Given the description of an element on the screen output the (x, y) to click on. 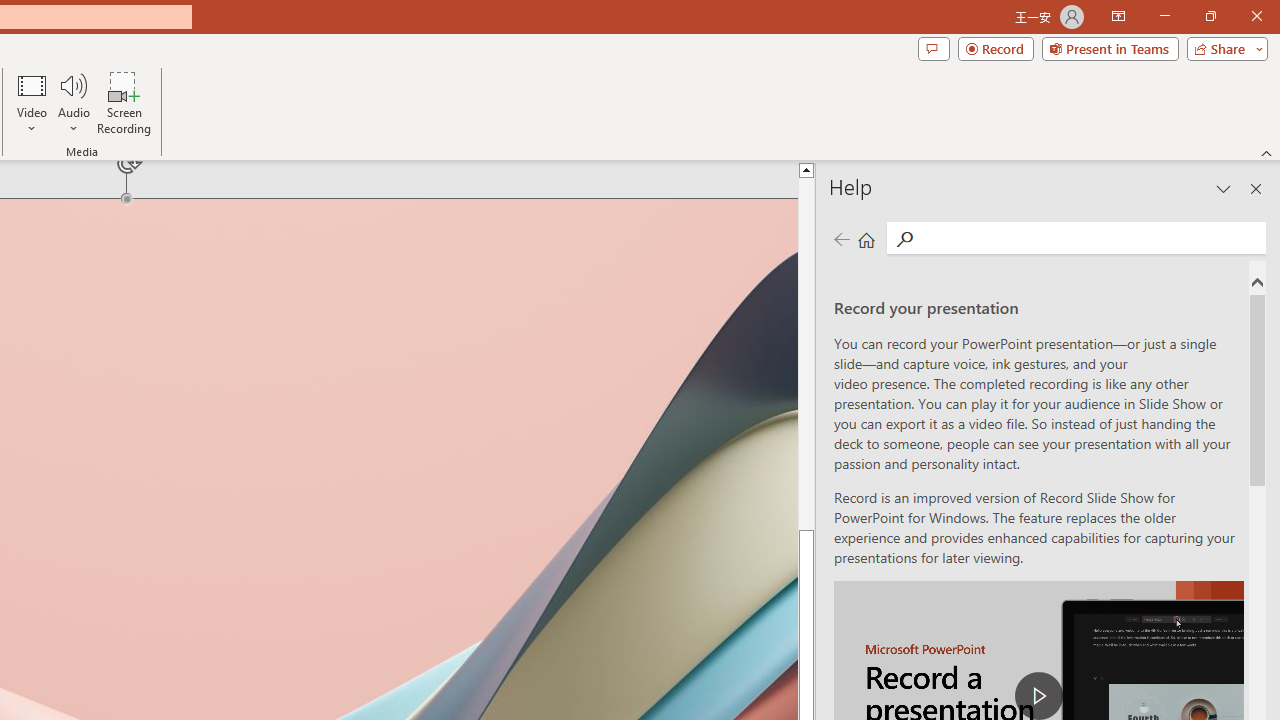
play Record a Presentation (1038, 695)
Video (31, 102)
